Given the description of an element on the screen output the (x, y) to click on. 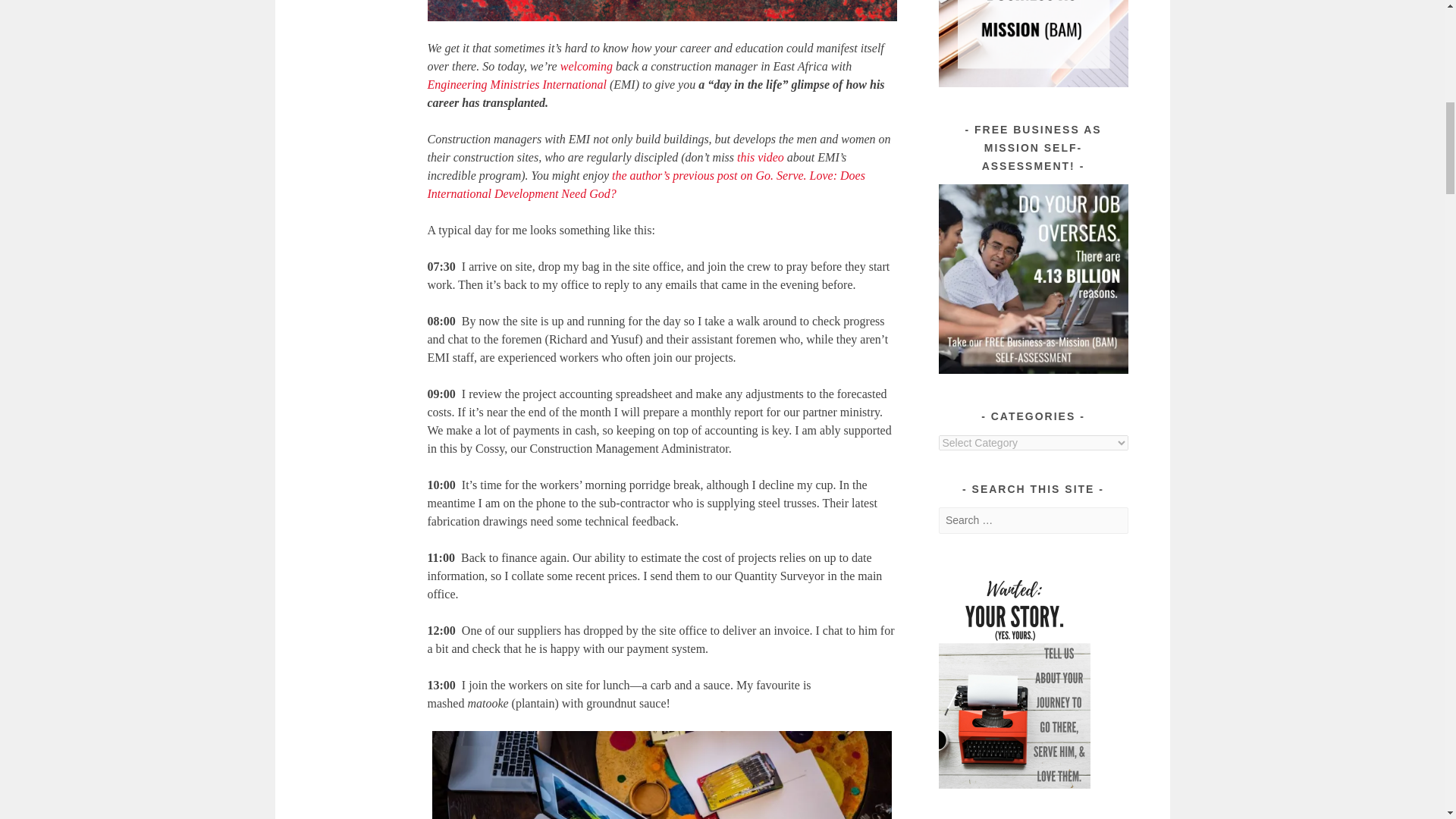
this video (758, 156)
Engineering Ministries International (517, 83)
welcoming (586, 65)
